Given the description of an element on the screen output the (x, y) to click on. 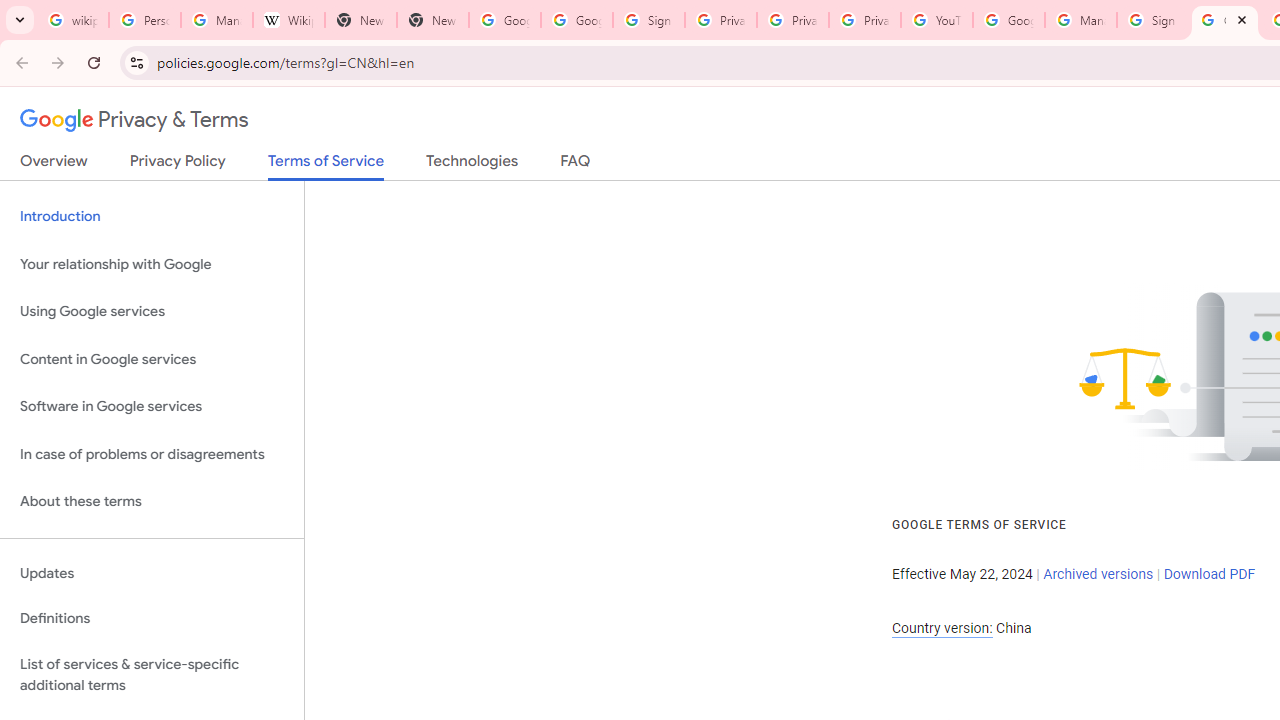
Terms of Service (326, 166)
In case of problems or disagreements (152, 453)
Personalization & Google Search results - Google Search Help (144, 20)
Sign in - Google Accounts (1153, 20)
Google Drive: Sign-in (577, 20)
Privacy Policy (177, 165)
Definitions (152, 619)
New Tab (360, 20)
Software in Google services (152, 407)
Overview (54, 165)
